Given the description of an element on the screen output the (x, y) to click on. 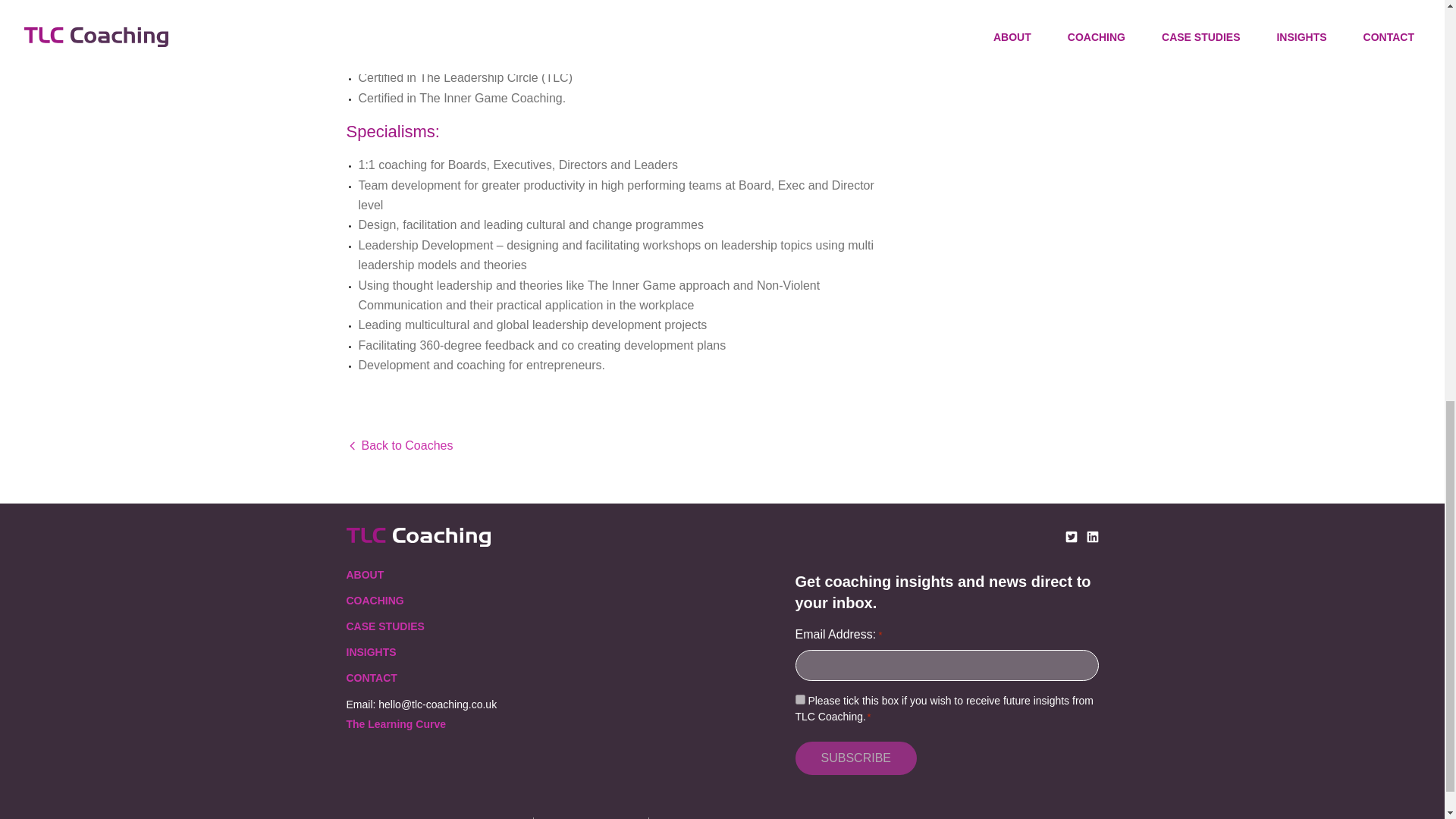
CASE STUDIES (384, 625)
Subscribe (854, 758)
CONTACT (371, 677)
Back to Coaches (721, 445)
Subscribe (854, 758)
INSIGHTS (371, 652)
The Learning Curve (395, 724)
COACHING (374, 600)
1 (799, 699)
ABOUT (365, 574)
